Given the description of an element on the screen output the (x, y) to click on. 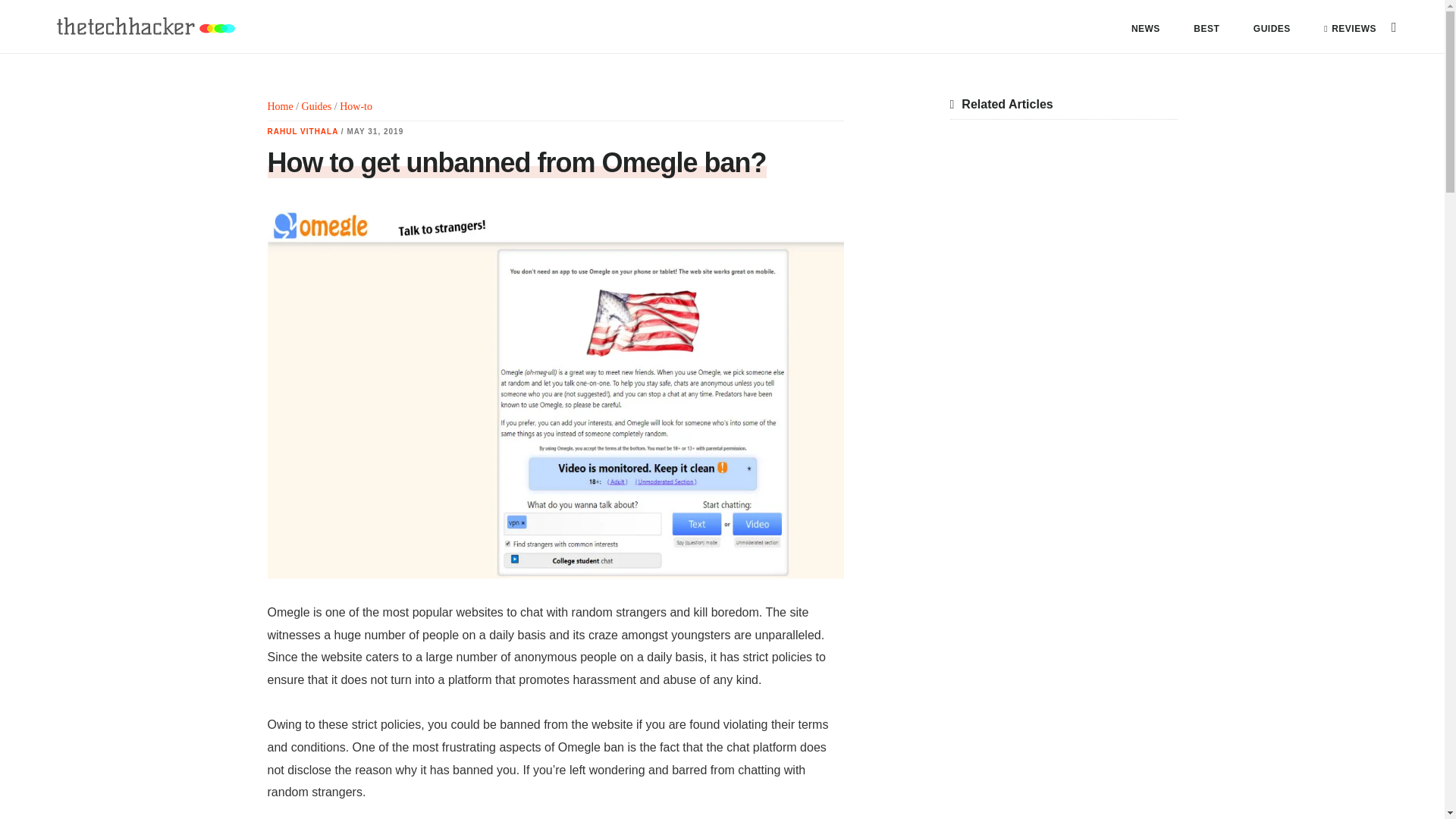
THETECHHACKER (143, 26)
GUIDES (1272, 28)
BEST (1206, 28)
NEWS (1145, 28)
Guides (316, 106)
Home (279, 106)
REVIEWS (1350, 28)
How-to (355, 106)
RAHUL VITHALA (301, 131)
